Given the description of an element on the screen output the (x, y) to click on. 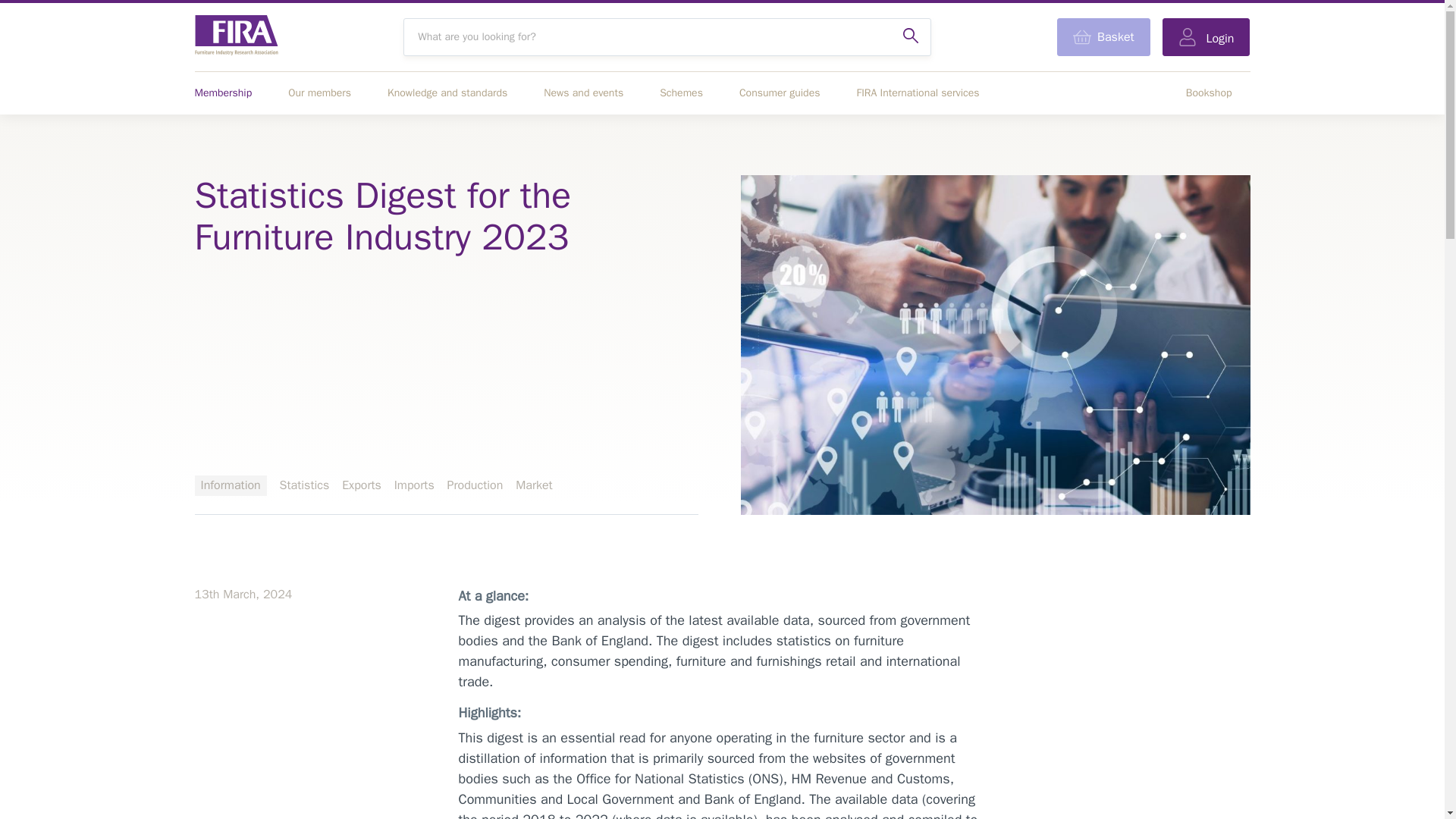
Basket (1103, 37)
Consumer guides (780, 93)
Login (1205, 37)
Membership (222, 93)
Production (474, 485)
Schemes (681, 93)
Exports (361, 485)
FIRA International services (917, 93)
Bookshop (1208, 93)
Statistics (304, 485)
